Given the description of an element on the screen output the (x, y) to click on. 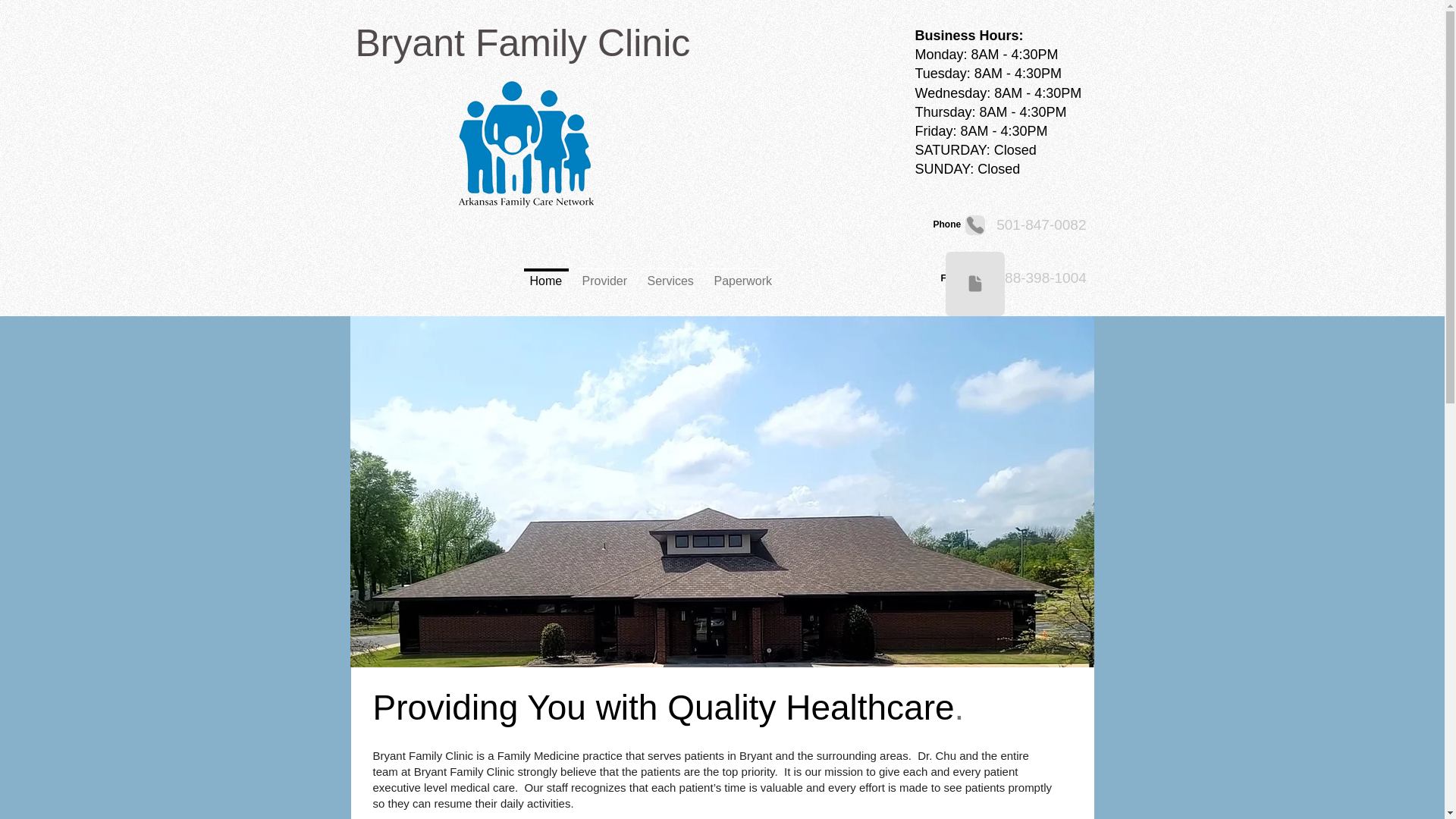
Services (670, 274)
Paperwork (742, 274)
Provider (604, 274)
Bryant Family Clinic (522, 43)
Home (545, 274)
